Given the description of an element on the screen output the (x, y) to click on. 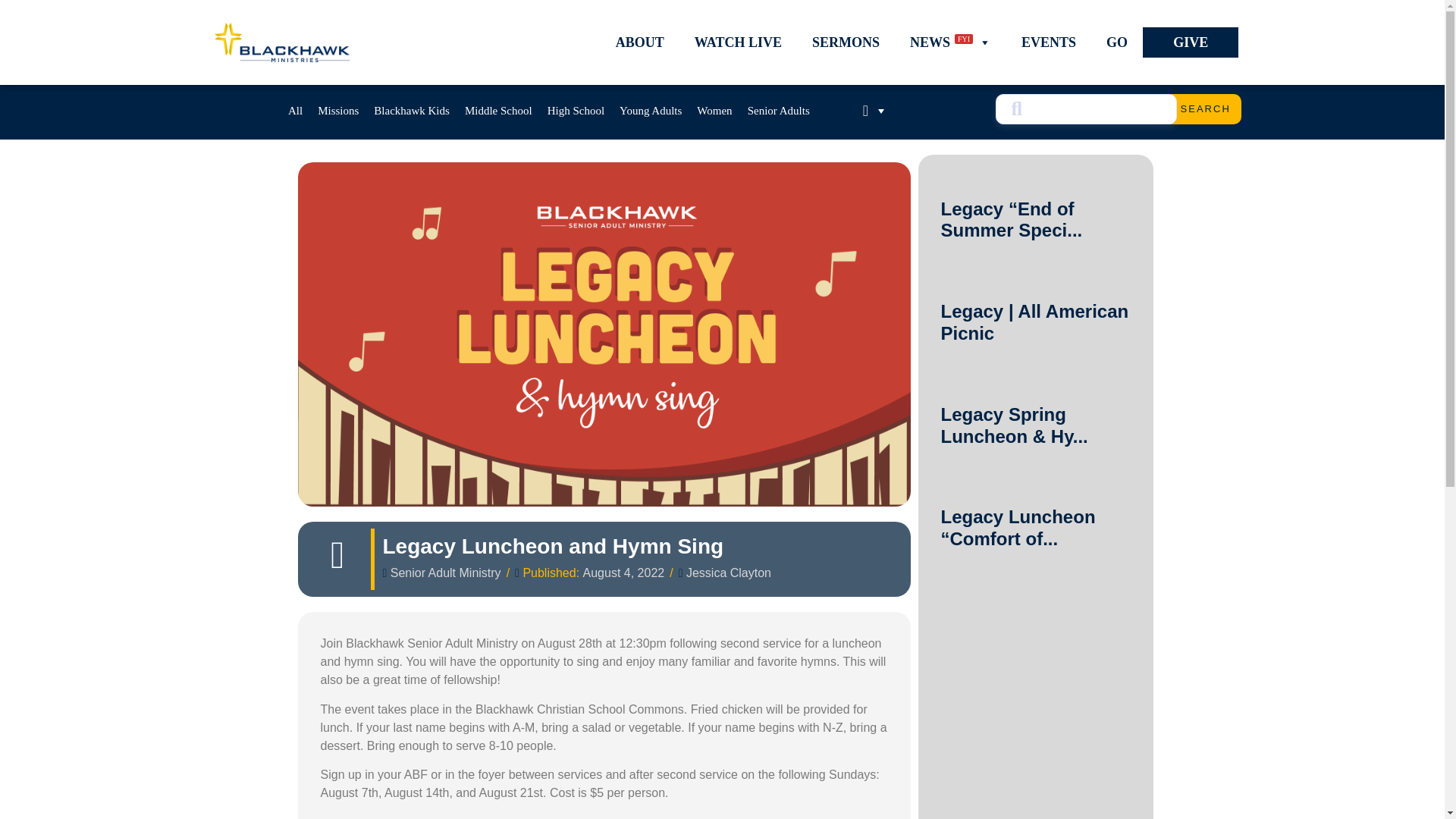
NEWSFYI (950, 42)
GIVE (1190, 42)
August 4, 2022 (624, 573)
3:53 PM (624, 572)
Middle School (498, 110)
GO (1116, 42)
Women (713, 110)
High School (575, 110)
Senior Adults (777, 110)
SERMONS (845, 42)
